Given the description of an element on the screen output the (x, y) to click on. 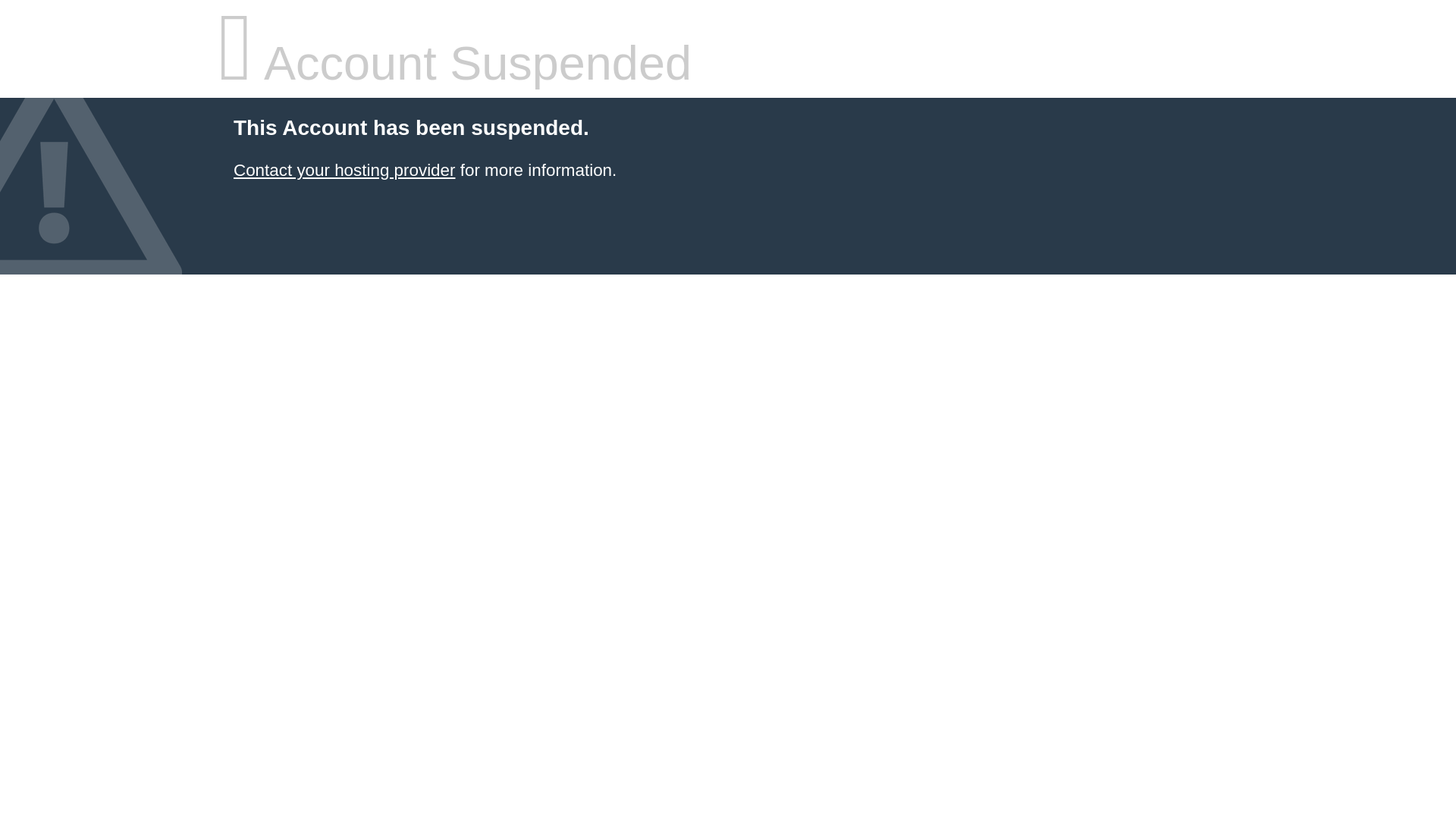
Contact your hosting provider (343, 169)
